Given the description of an element on the screen output the (x, y) to click on. 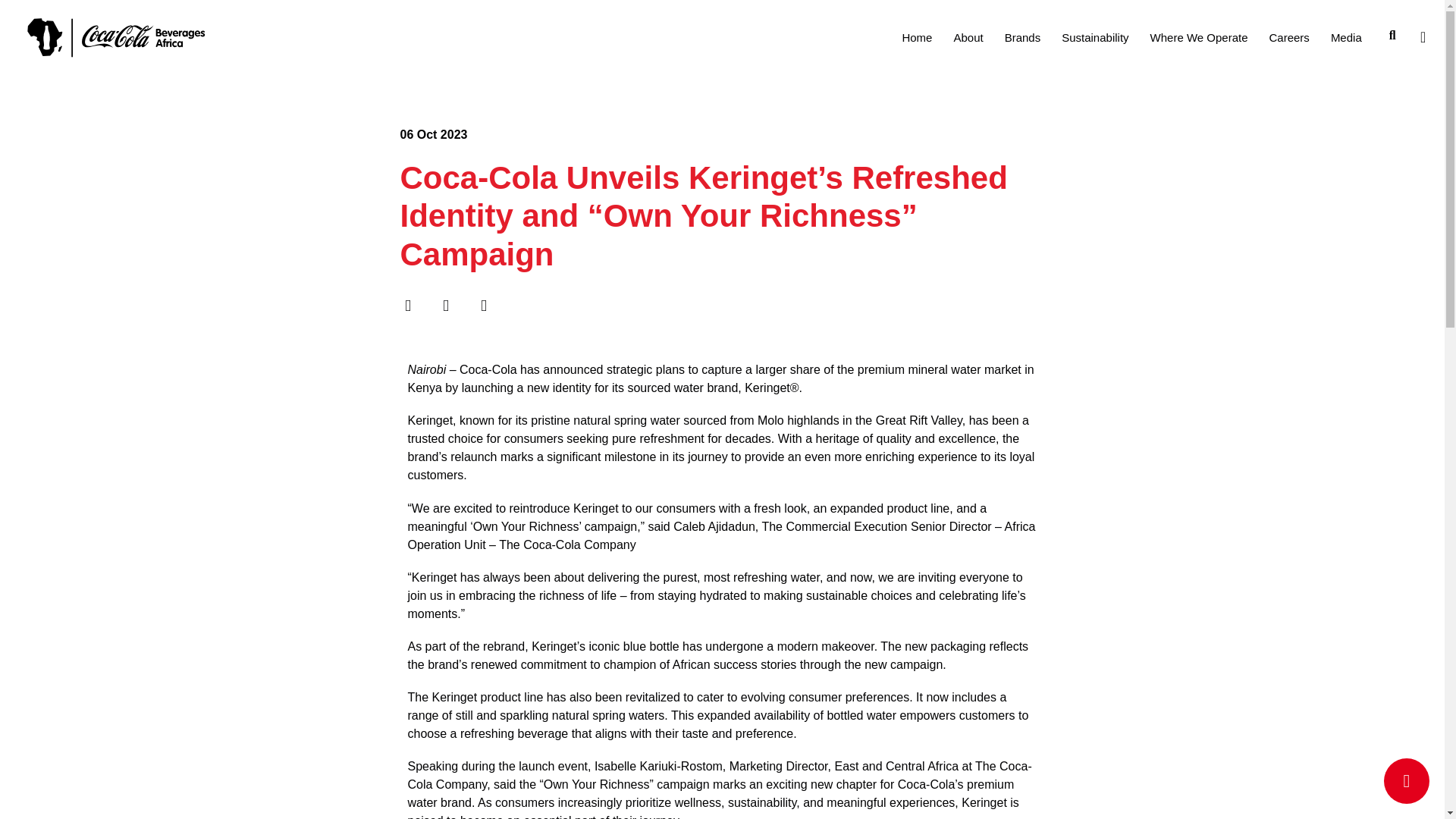
Where We Operate (1199, 37)
Home (916, 37)
Media (1346, 37)
About (967, 37)
Sustainability (1094, 37)
Careers (1289, 37)
Brands (1022, 37)
